Given the description of an element on the screen output the (x, y) to click on. 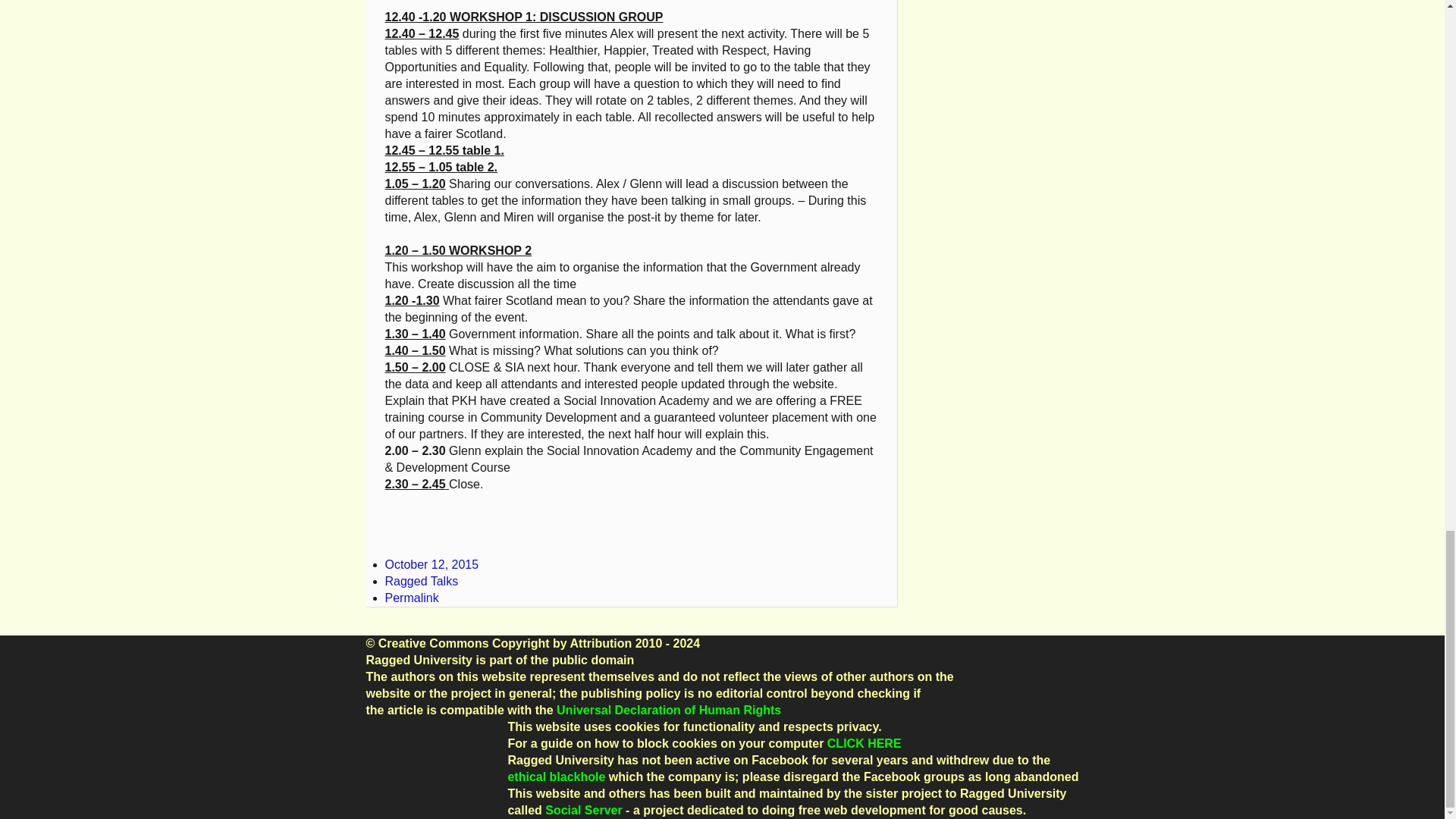
View all posts from October (432, 563)
